Given the description of an element on the screen output the (x, y) to click on. 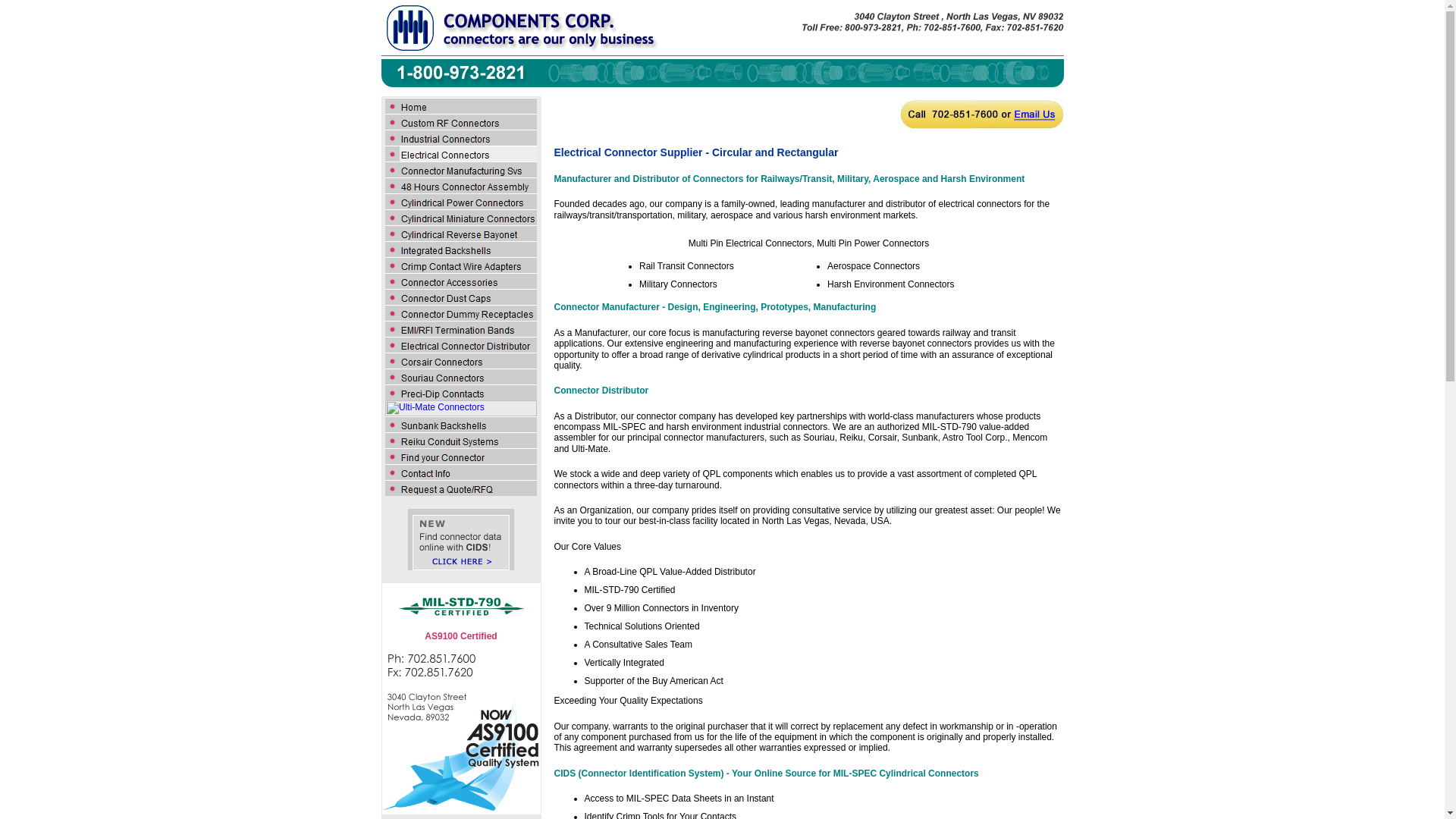
Cylindrical Power Connectors (461, 201)
Integrated Backshells (461, 248)
components-connectors-logo 2019 (721, 29)
Custom RF Connectors (461, 121)
Connector Accessories (461, 280)
Connector Dummy Receptacles (461, 312)
Electrical Connectors (461, 153)
Souriau Connectors (461, 376)
Corsair Connectors (461, 360)
top2 (721, 72)
Cylindrical Miniature Connectors (461, 217)
Connector Dust Caps (461, 296)
Crimp Contact Wire Adapters (461, 264)
Cylindrical Reverse Bayonet (461, 232)
Home (461, 105)
